Given the description of an element on the screen output the (x, y) to click on. 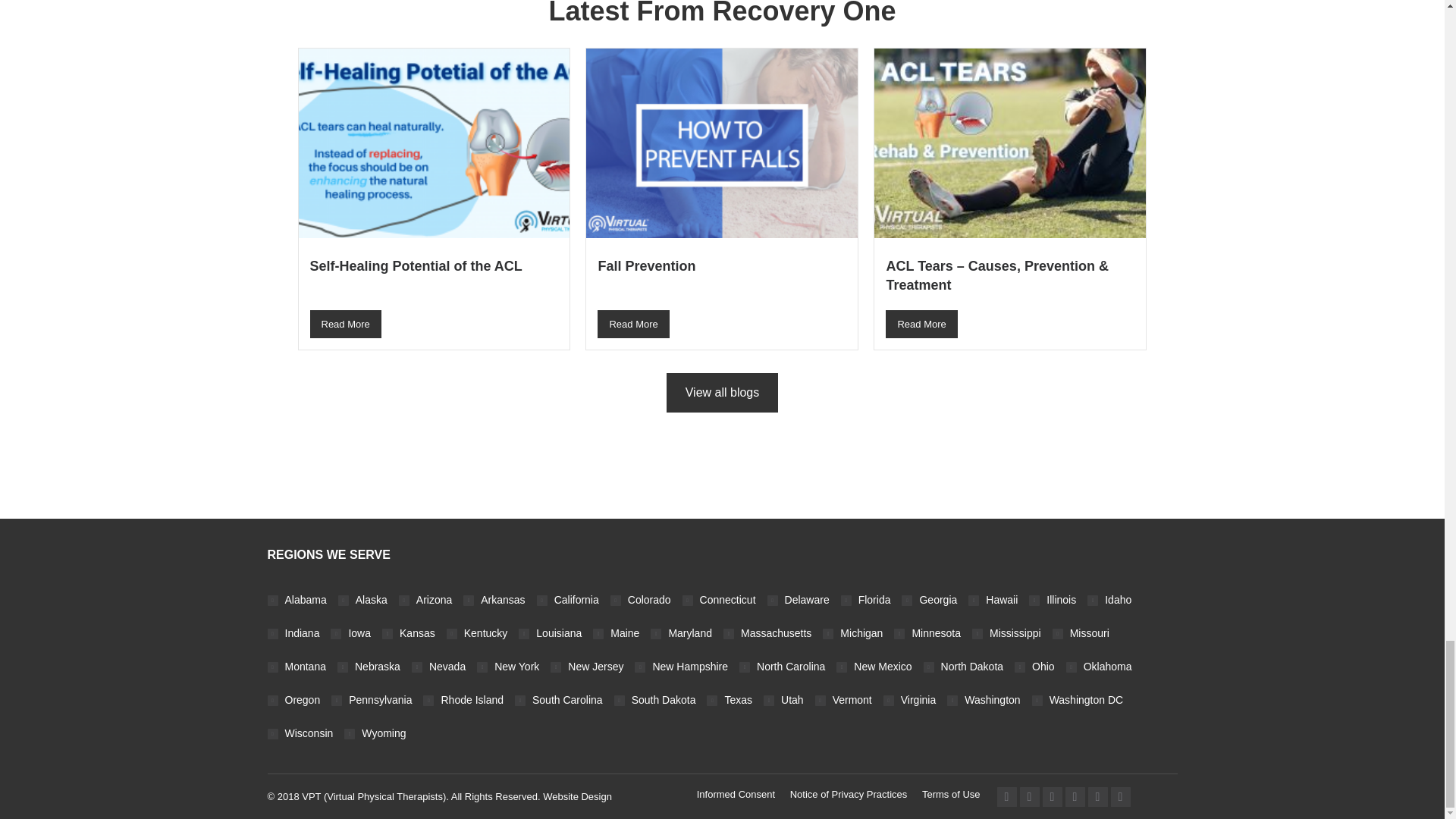
Self-Healing Potential of the ACL (432, 275)
Twitter page opens in new window (1029, 796)
Facebook page opens in new window (1005, 796)
Fall Prevention (720, 275)
Linkedin page opens in new window (1051, 796)
